Given the description of an element on the screen output the (x, y) to click on. 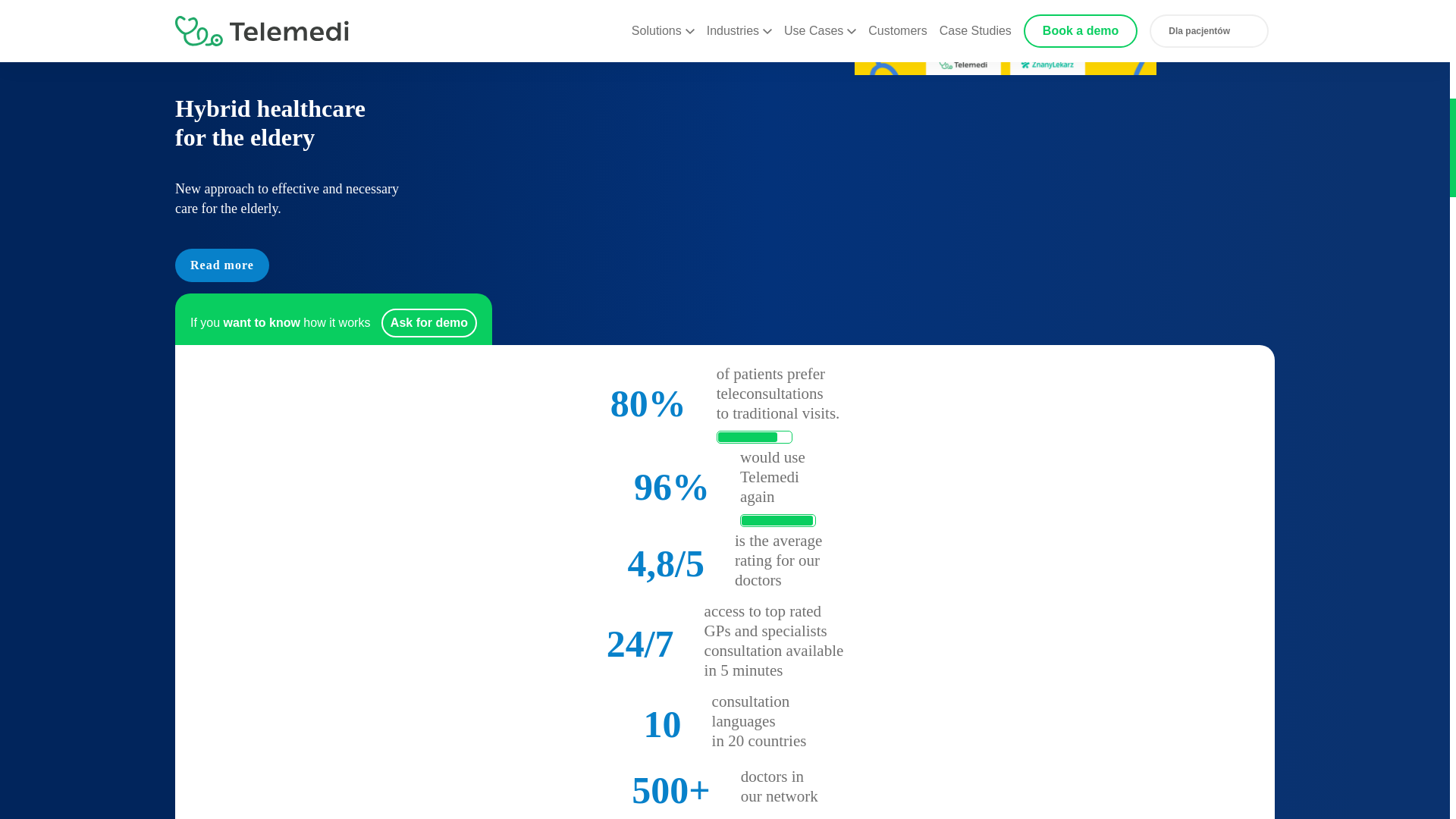
Read more (221, 264)
